Given the description of an element on the screen output the (x, y) to click on. 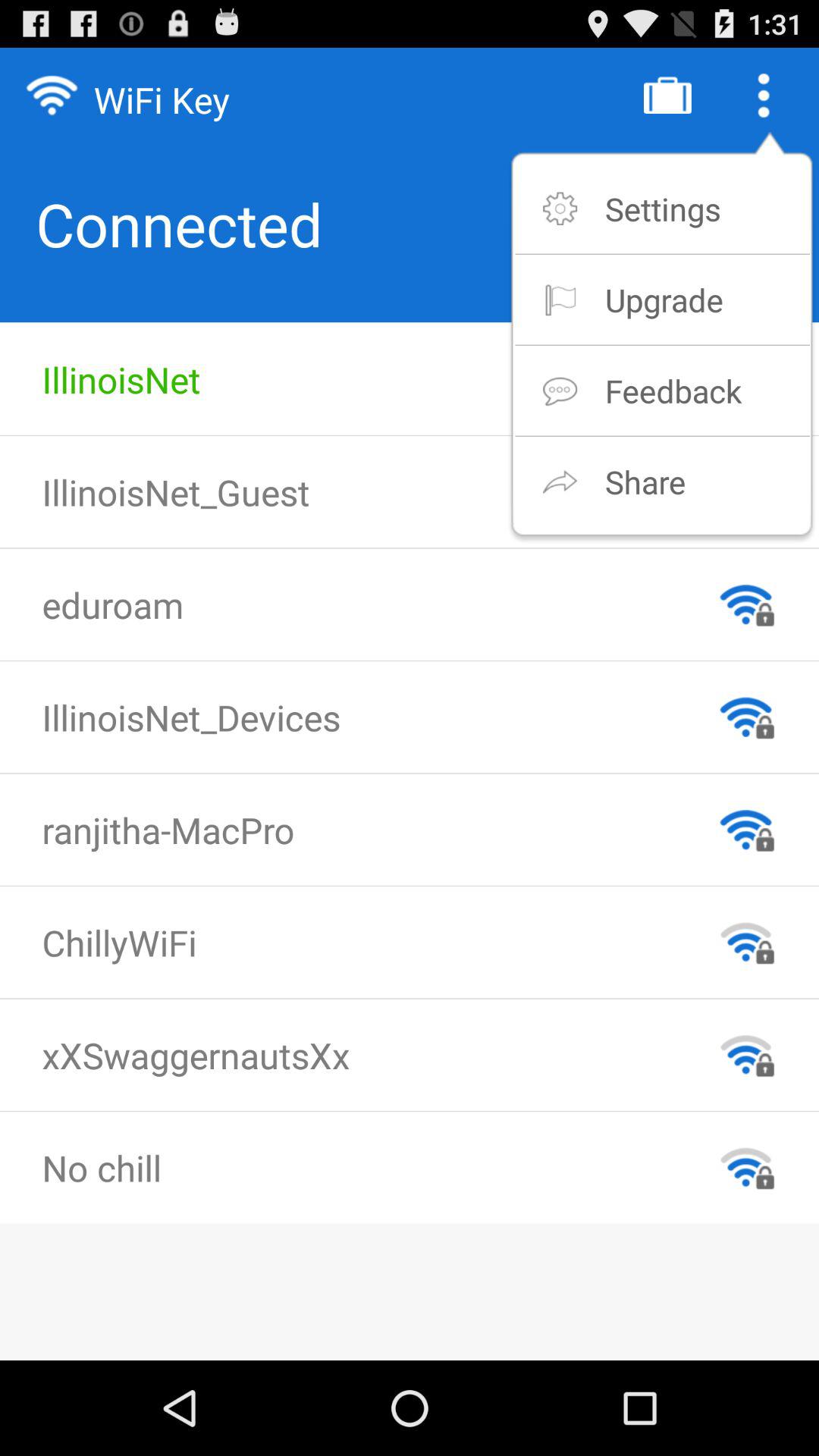
flip to feedback (673, 390)
